Given the description of an element on the screen output the (x, y) to click on. 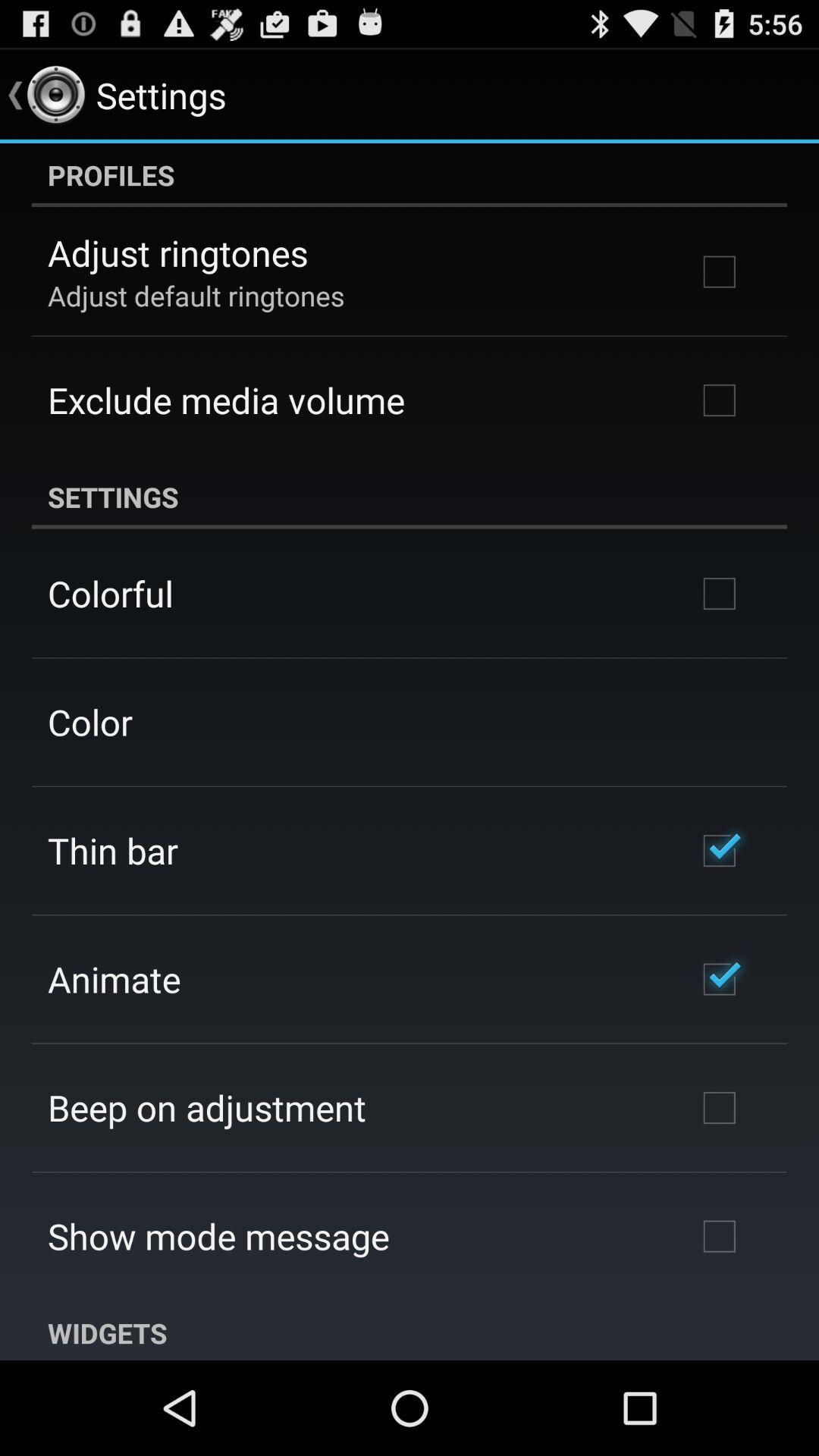
open the widgets app (409, 1330)
